Given the description of an element on the screen output the (x, y) to click on. 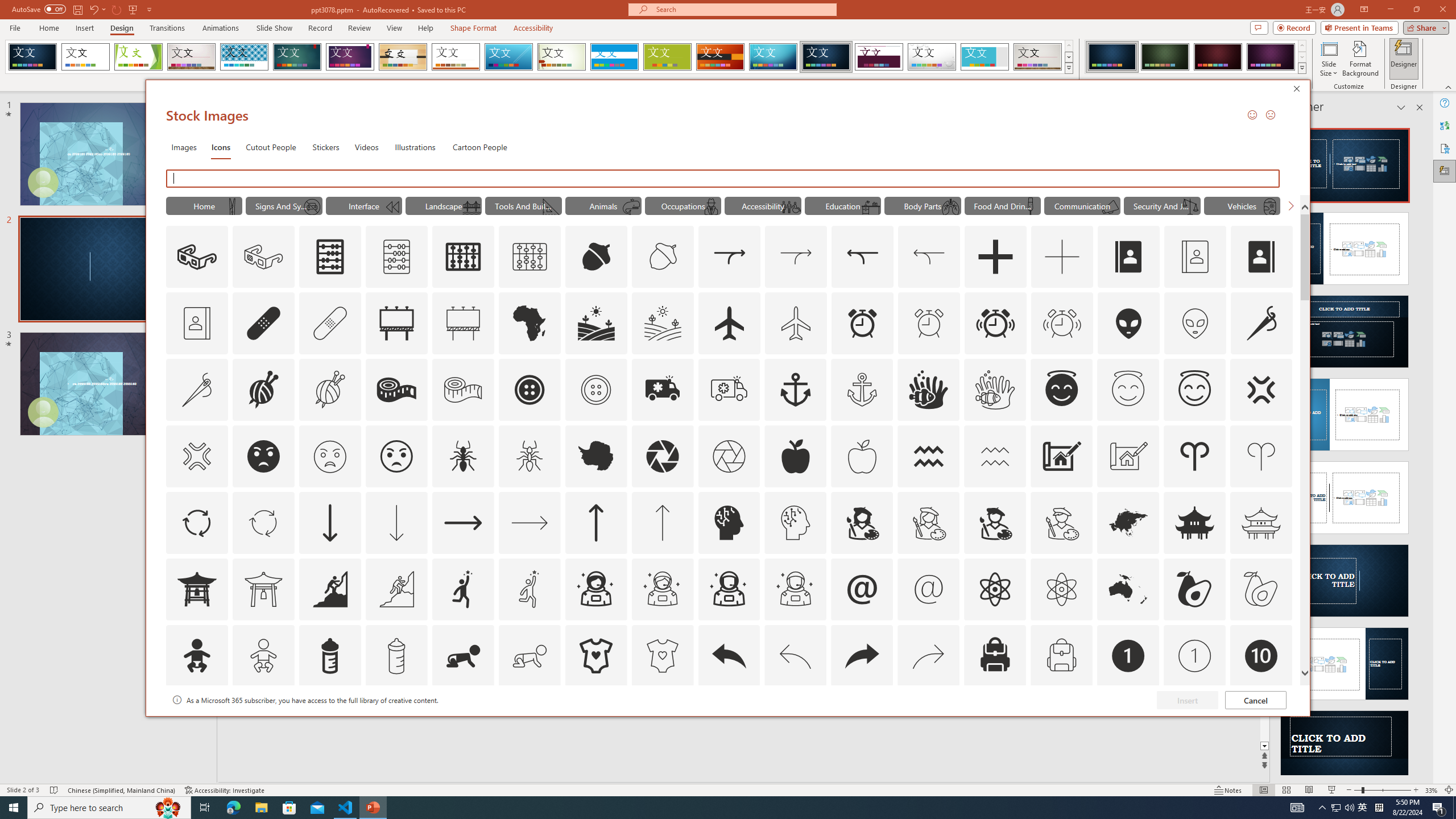
AutomationID: Icons_ArrowUp (595, 522)
Running applications (707, 807)
AutomationID: Icons_AstronautFemale_M (662, 588)
AutomationID: Icons_TriangleRuler_M (551, 206)
AutomationID: Icons_Asia (1128, 522)
